Given the description of an element on the screen output the (x, y) to click on. 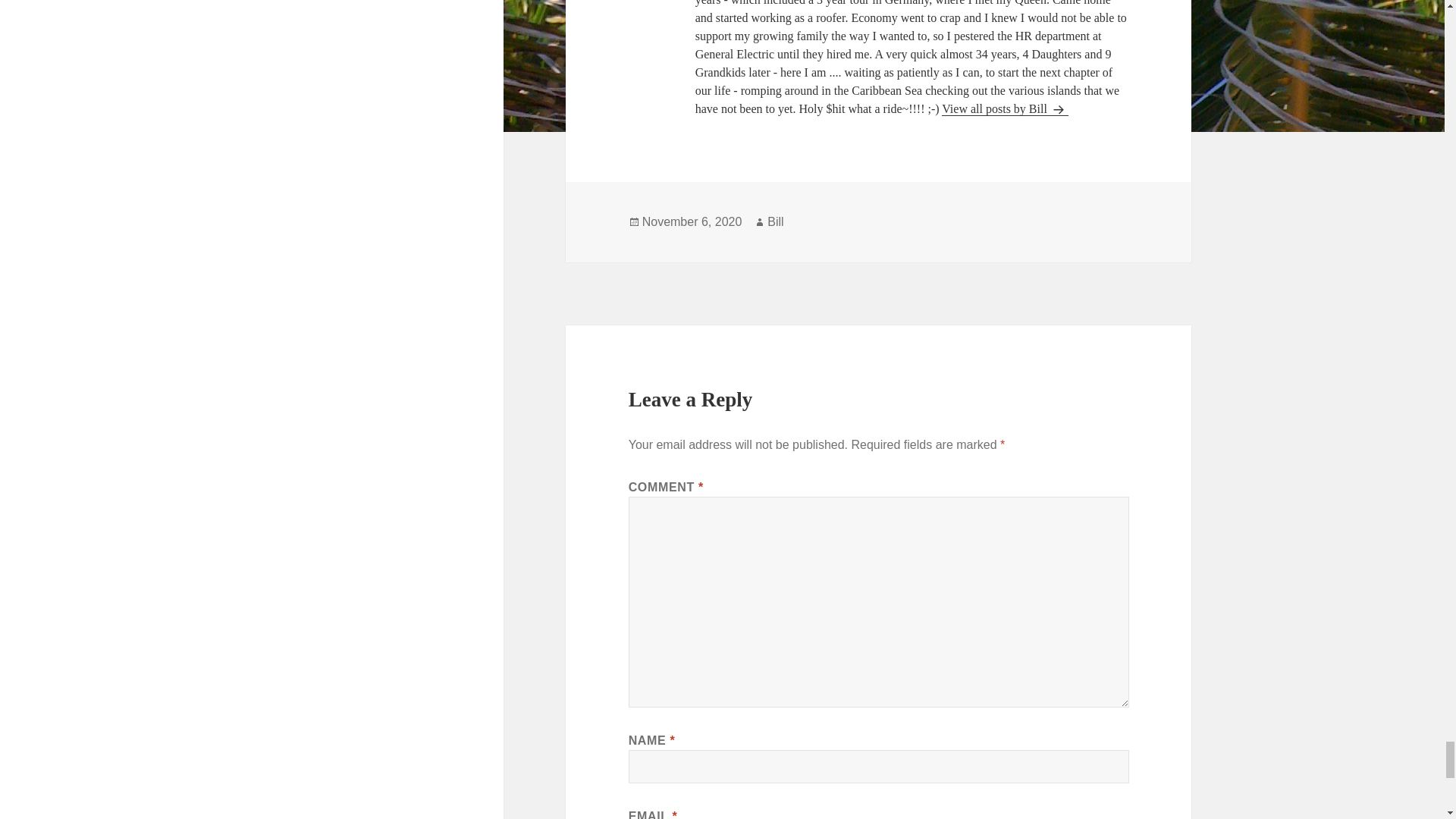
Bill (775, 222)
November 6, 2020 (692, 222)
View all posts by Bill (1005, 109)
